Given the description of an element on the screen output the (x, y) to click on. 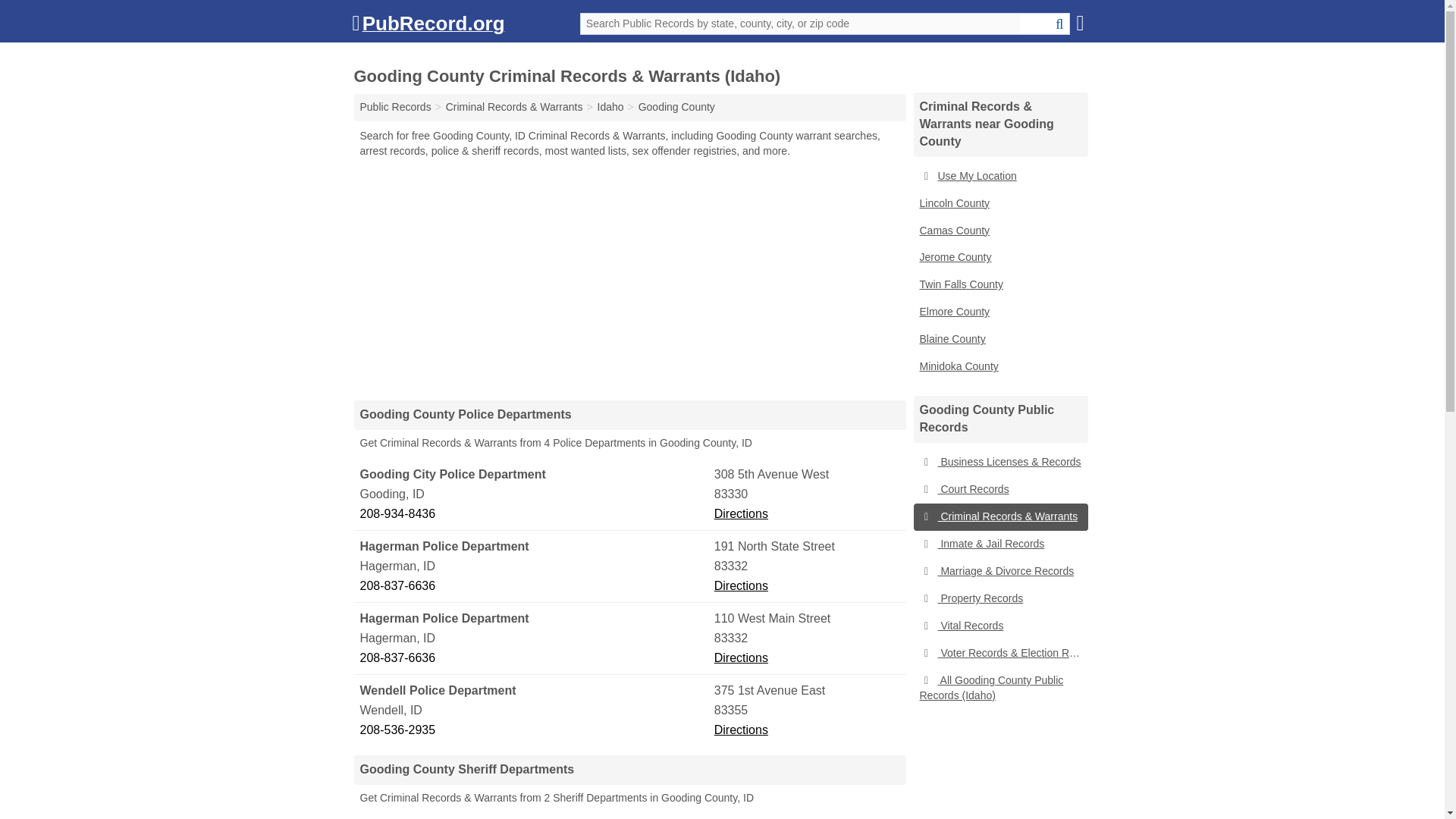
Directions (741, 513)
208-837-6636 (534, 658)
208-837-6636 (534, 586)
Directions (741, 585)
Advertisement (629, 278)
PubRecord.org (427, 26)
Gooding County (676, 106)
Public Records - PubRecords.org (394, 106)
208-934-8436 (534, 514)
Idaho (610, 106)
